Given the description of an element on the screen output the (x, y) to click on. 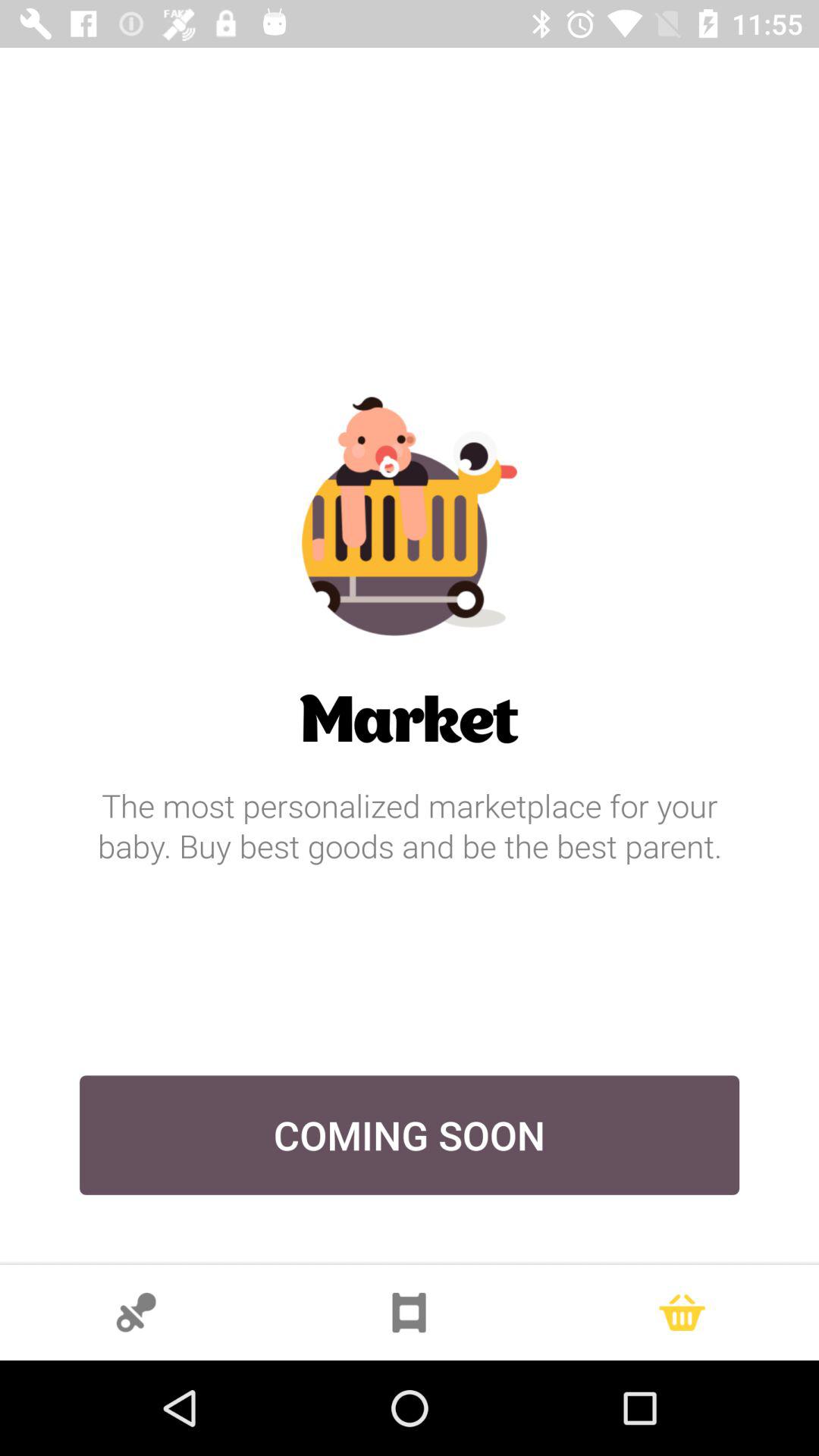
cart icon (682, 1312)
